Given the description of an element on the screen output the (x, y) to click on. 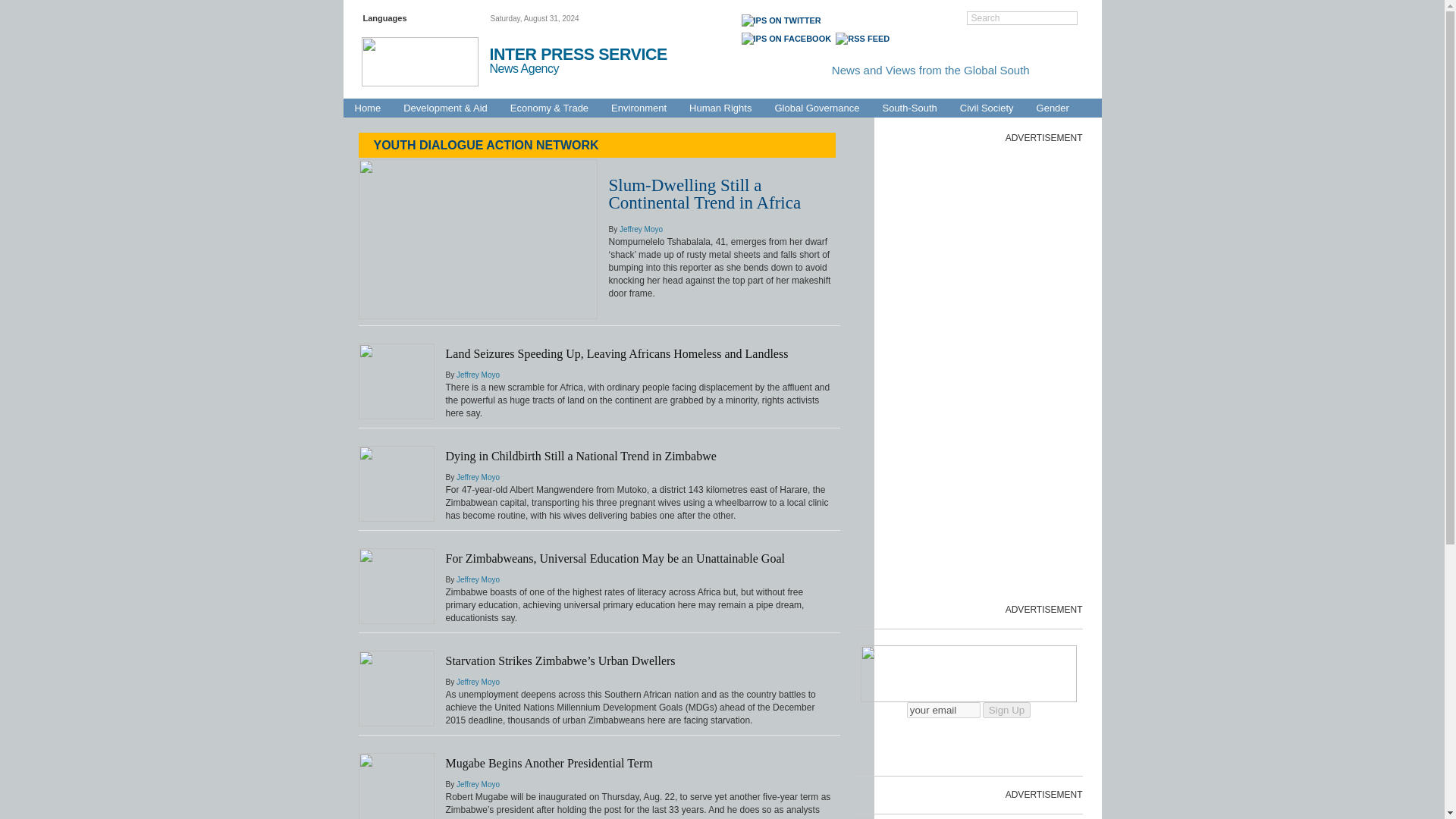
INTER PRESS SERVICE (577, 54)
Sign Up (1006, 709)
Mugabe Begins Another Presidential Term (548, 762)
Africa (657, 90)
Posts by Jeffrey Moyo (478, 477)
Search (1022, 18)
North America (1025, 90)
